Given the description of an element on the screen output the (x, y) to click on. 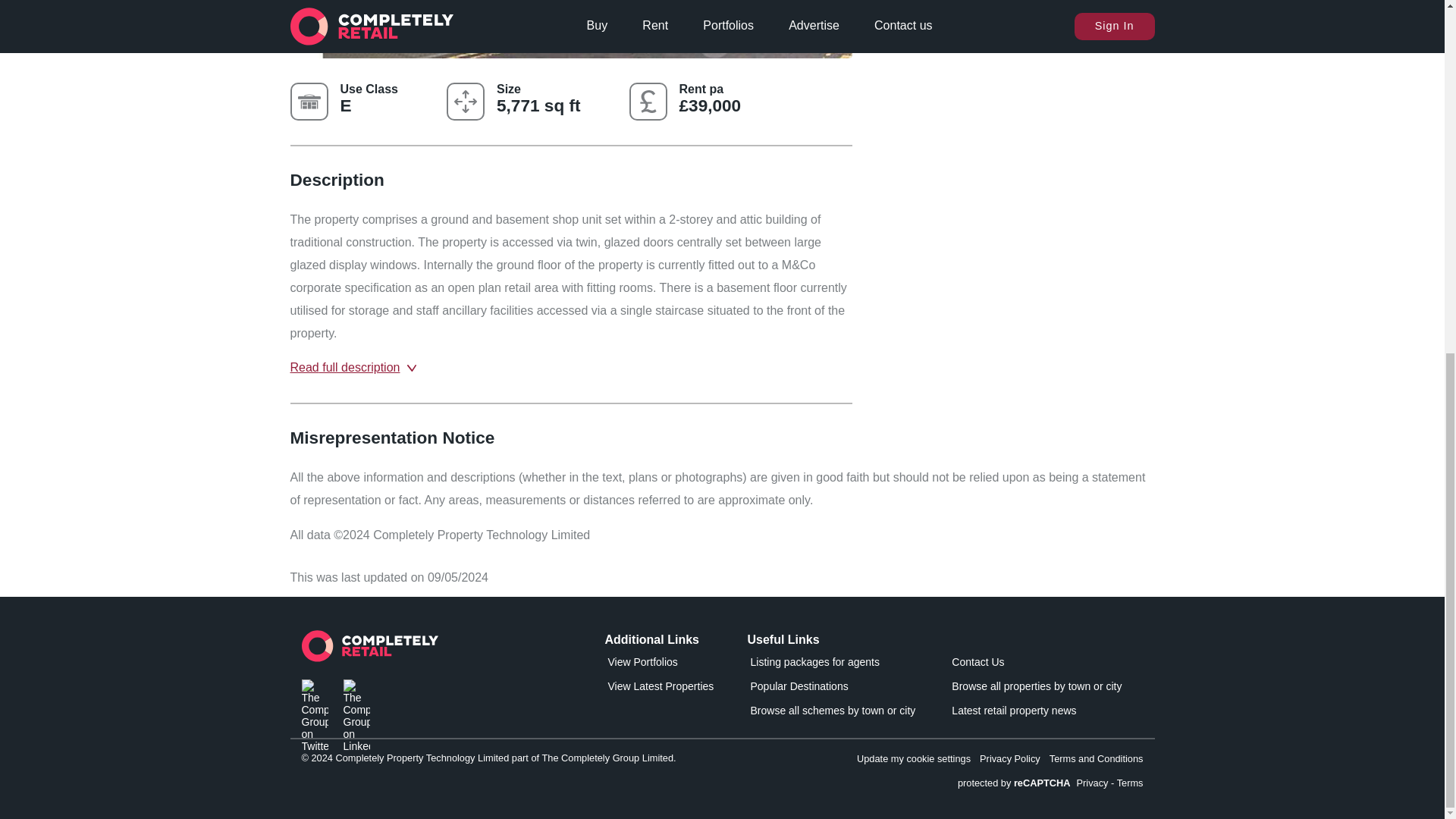
Terms and Conditions (1095, 758)
Latest retail property news (1036, 713)
Contact Us (1036, 665)
Popular Destinations (833, 689)
Terms and Conditions (1095, 758)
View Latest Properties (673, 689)
Privacy Policy (1010, 758)
Browse all schemes by town or city (833, 713)
Browse all properties by town or city (1036, 689)
Terms (1129, 782)
Browse all schemes by town or city (833, 713)
Browse all properties by town or city (1036, 689)
Contact Us (1036, 665)
View Portfolios (673, 665)
Privacy (1092, 782)
